Given the description of an element on the screen output the (x, y) to click on. 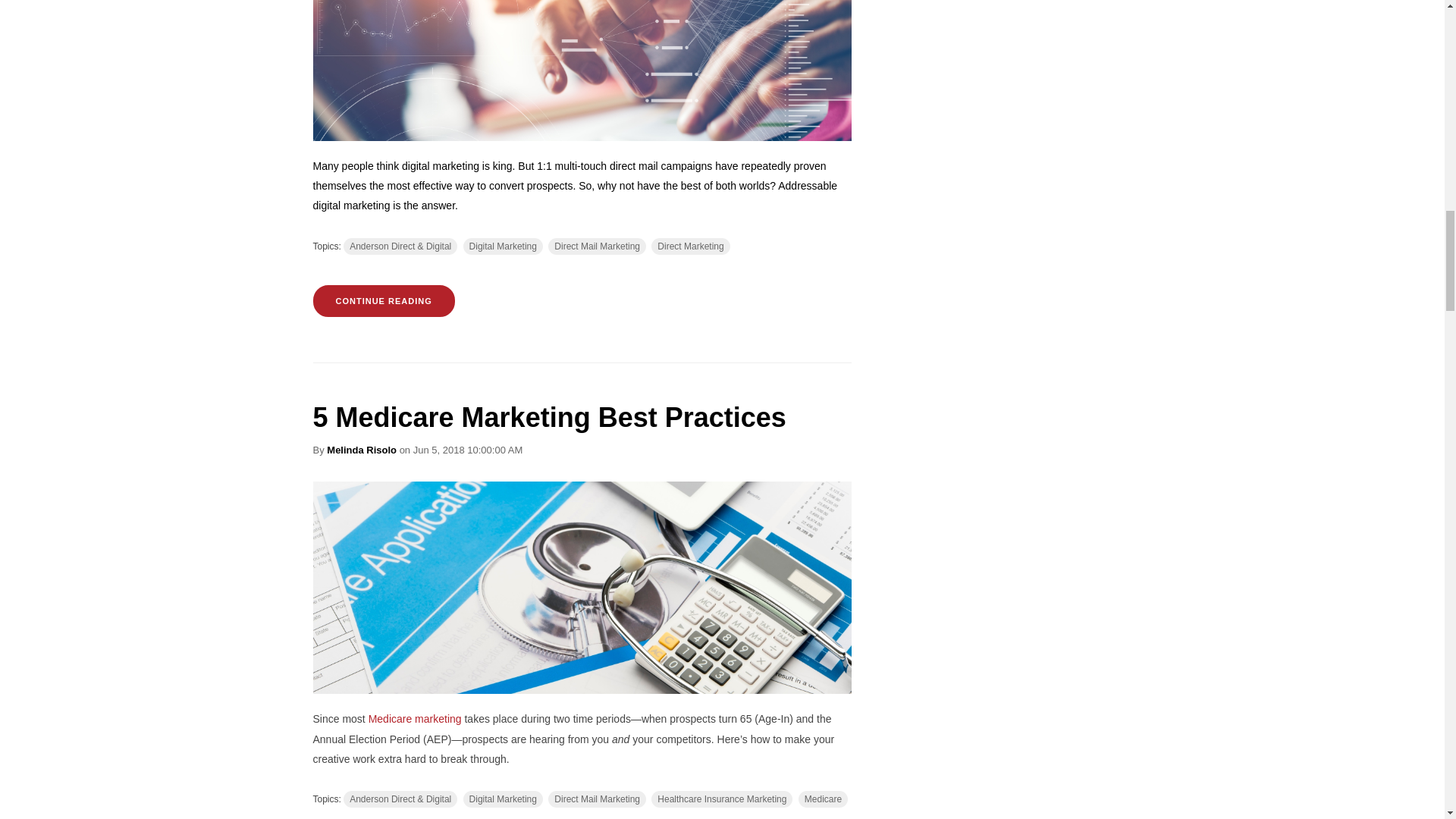
Direct Mail Marketing (597, 246)
5 Medicare Marketing Best Practices (549, 417)
CONTINUE READING (383, 300)
Digital Marketing (503, 246)
Direct Marketing (689, 246)
